Given the description of an element on the screen output the (x, y) to click on. 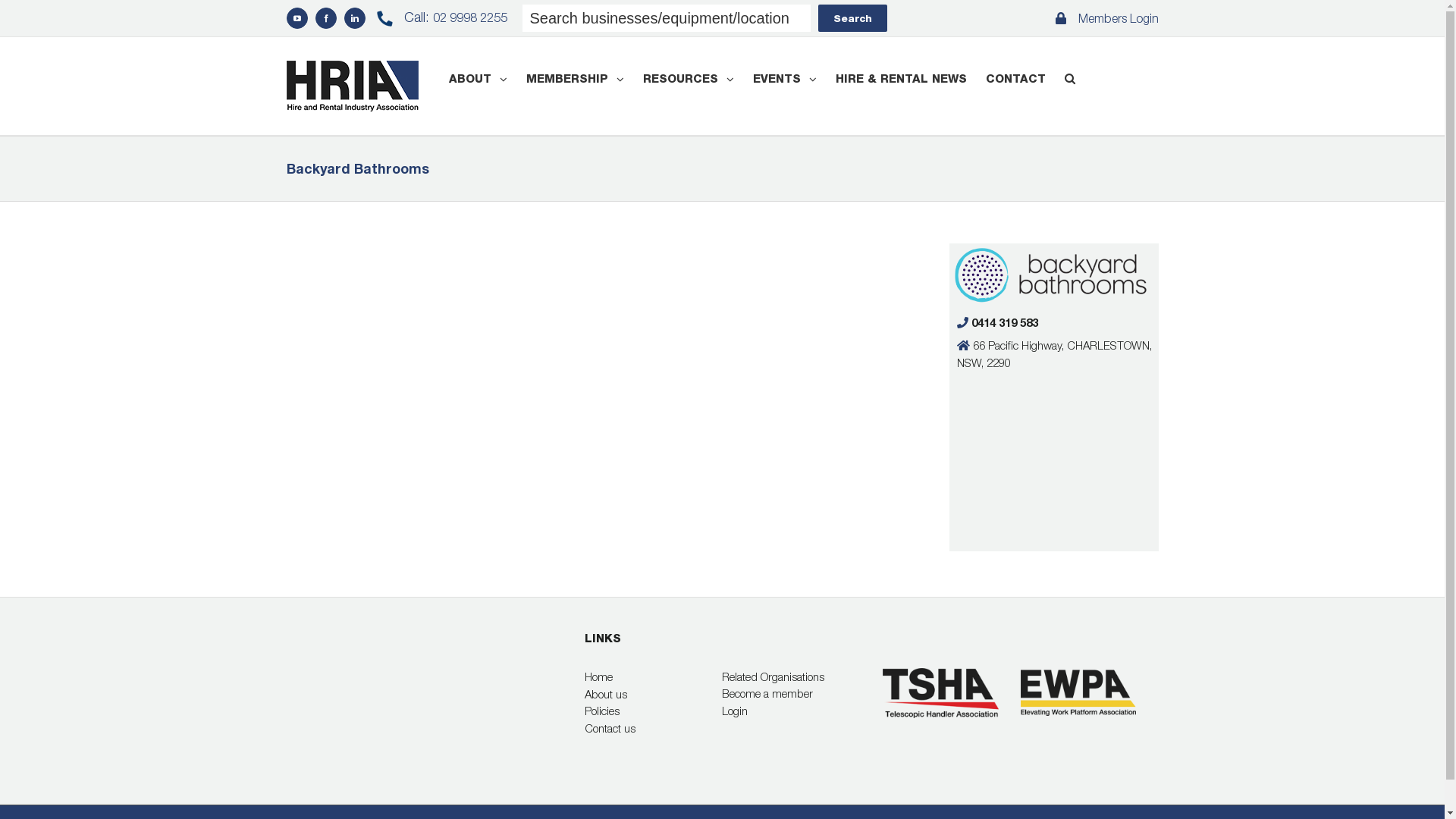
Policies Element type: text (653, 710)
LinkedIn Element type: text (354, 17)
HIRE & RENTAL NEWS Element type: text (900, 78)
ABOUT Element type: text (477, 78)
Become a member Element type: text (790, 693)
Facebook Element type: text (325, 17)
EVENTS Element type: text (783, 78)
MEMBERSHIP Element type: text (575, 78)
Home Element type: text (653, 676)
Related Organisations Element type: text (790, 675)
Login Element type: text (790, 710)
Contact us Element type: text (653, 727)
RESOURCES Element type: text (688, 78)
YouTube Element type: text (296, 17)
Search Element type: hover (1069, 78)
About us Element type: text (653, 693)
02 9998 2255 Element type: text (469, 17)
Members Login Element type: text (1106, 18)
Search Element type: text (851, 17)
CONTACT Element type: text (1015, 78)
